Given the description of an element on the screen output the (x, y) to click on. 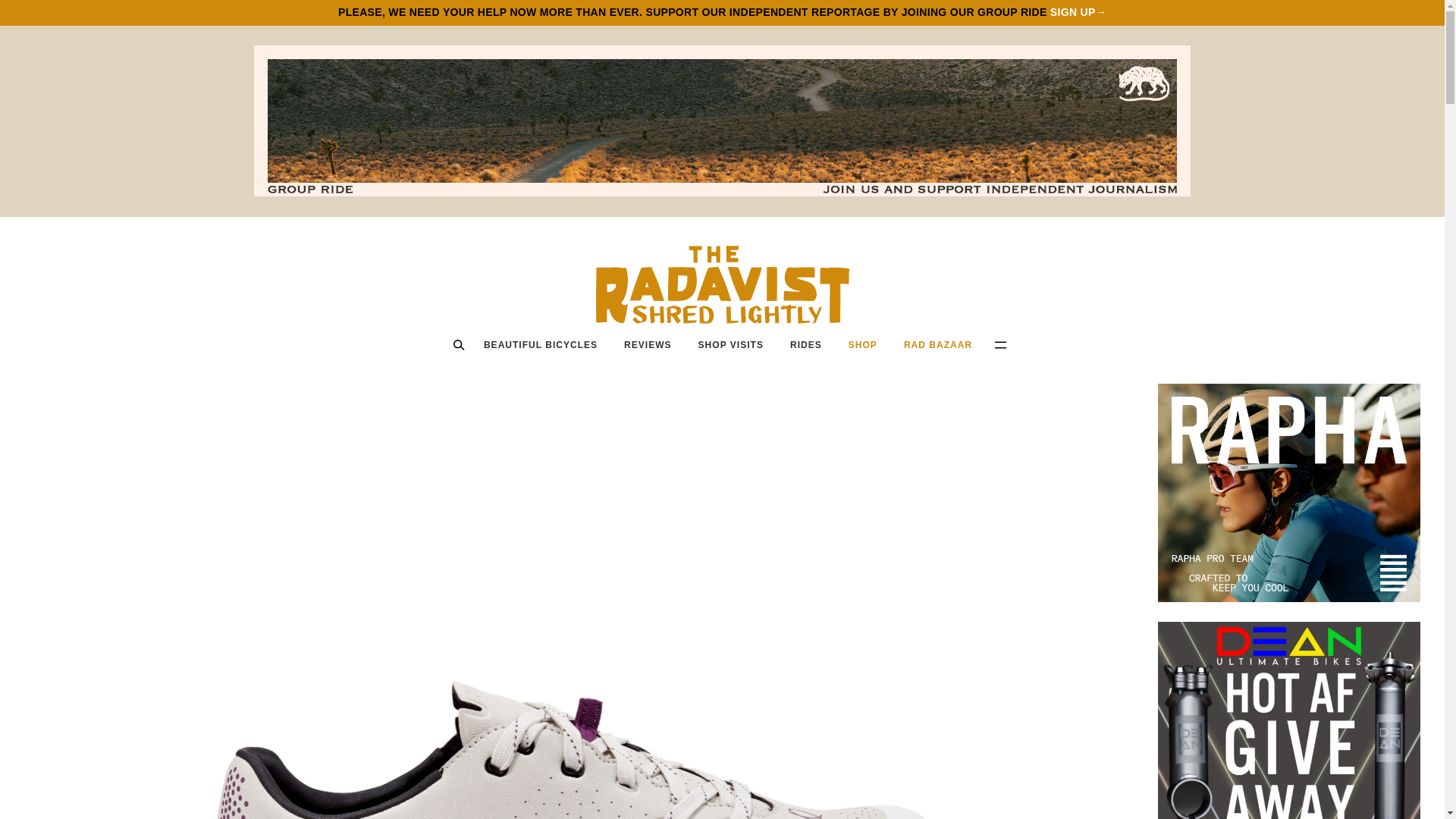
Janus Cycle Group (1289, 720)
REVIEWS (647, 344)
RAD BAZAAR (937, 344)
The Radavist (721, 284)
BEAUTIFUL BICYCLES (540, 344)
SHOP (862, 344)
The Radavist (721, 284)
SHOP VISITS (730, 344)
RIDES (805, 344)
Rapha (1289, 492)
